Given the description of an element on the screen output the (x, y) to click on. 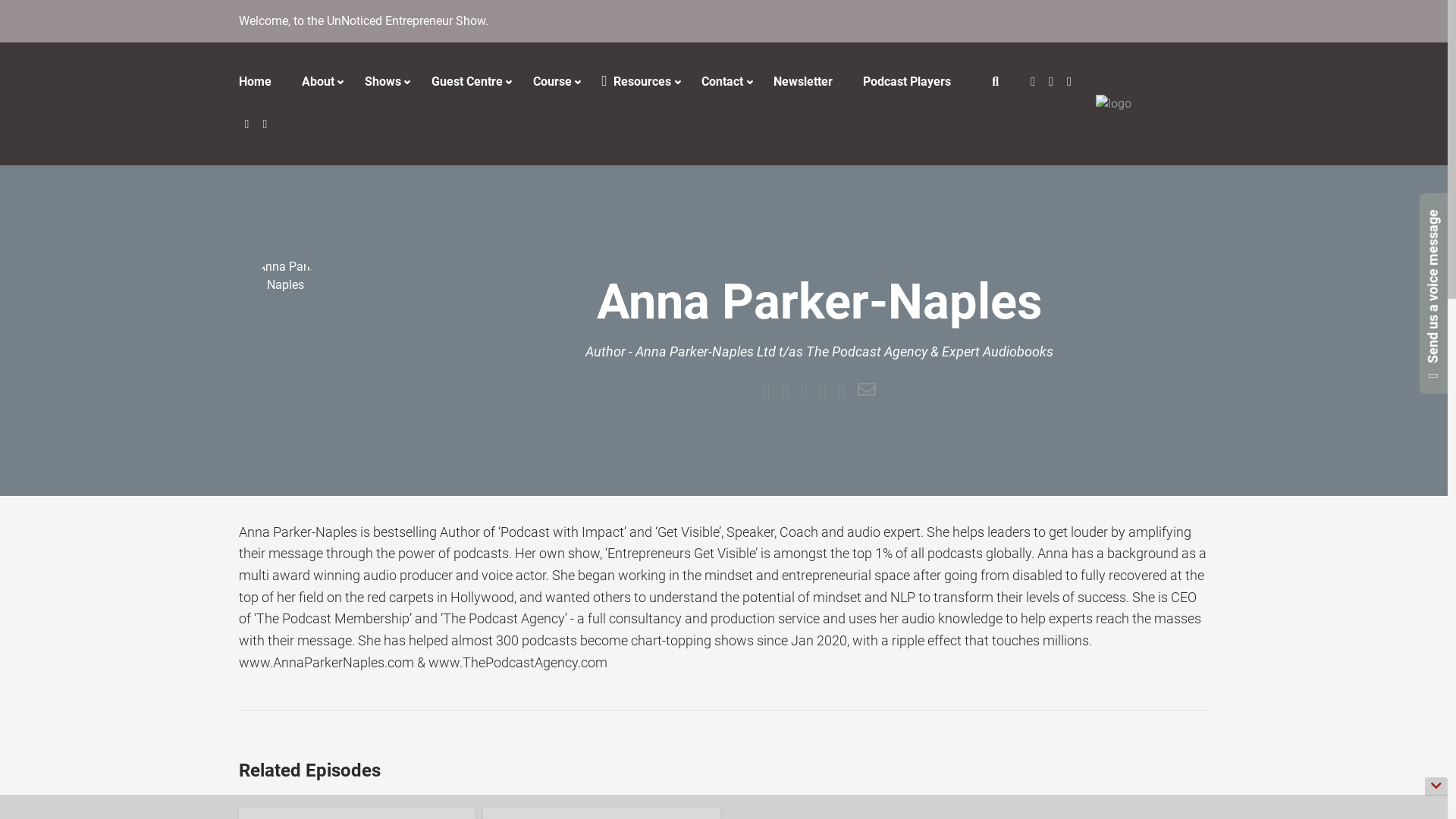
Resources Element type: text (636, 81)
Home Element type: text (261, 82)
YouTube Element type: hover (247, 124)
Contact Element type: text (722, 81)
Social Icon Element type: hover (1051, 82)
Course Element type: text (551, 81)
About Element type: text (317, 81)
Podcast Players Element type: text (906, 82)
Guest Centre Element type: text (466, 81)
Send us a voice message Element type: text (1369, 199)
Social Icon Element type: hover (1033, 82)
Social Icon Element type: hover (1069, 82)
Shows Element type: text (381, 81)
Social Icon Element type: hover (265, 124)
Newsletter Element type: text (802, 82)
Website Element type: hover (766, 390)
